Given the description of an element on the screen output the (x, y) to click on. 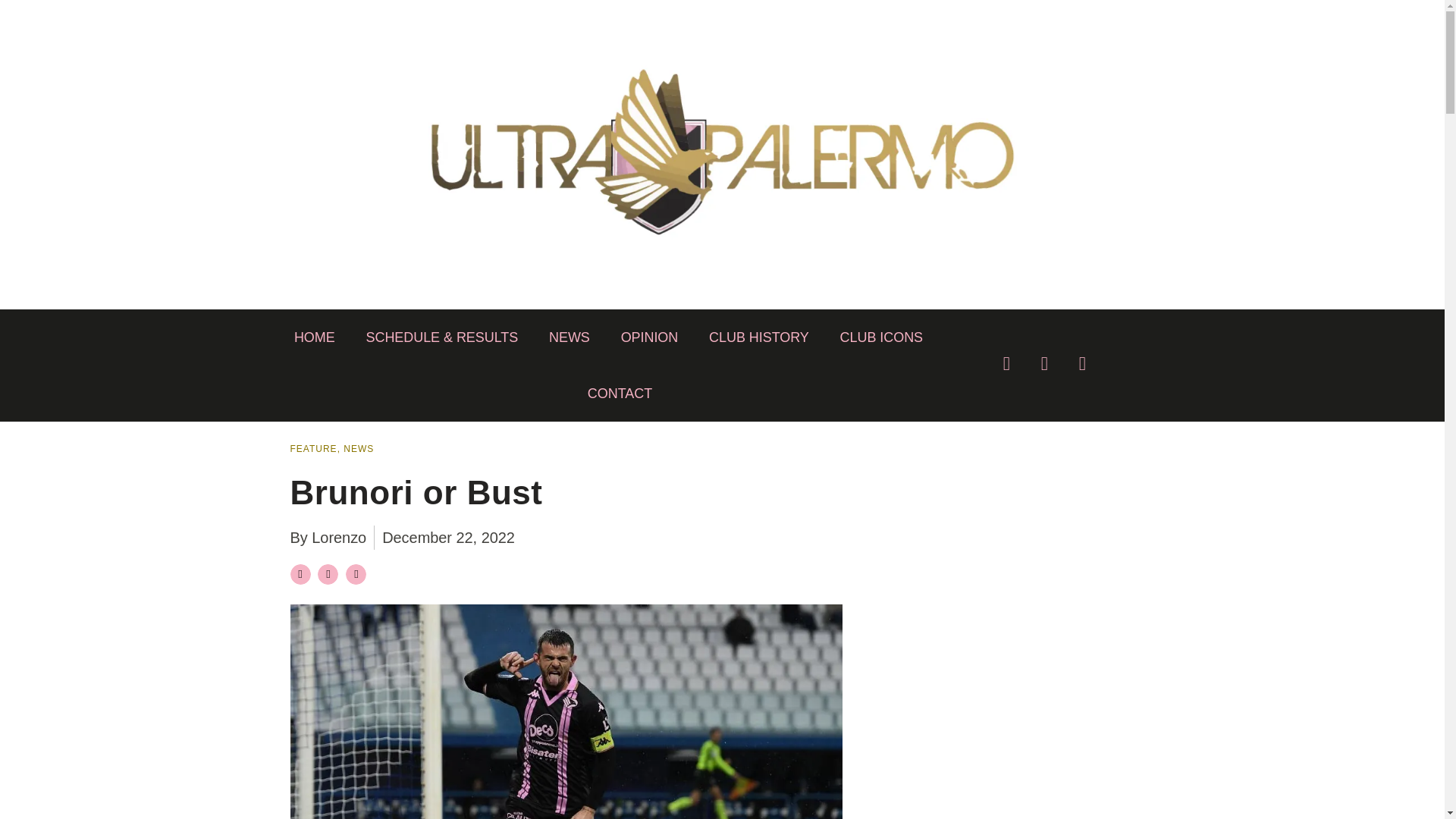
By Lorenzo (327, 537)
OPINION (648, 337)
CLUB HISTORY (758, 337)
FEATURE (312, 448)
December 22, 2022 (448, 537)
NEWS (358, 448)
CONTACT (620, 393)
CLUB ICONS (880, 337)
